Given the description of an element on the screen output the (x, y) to click on. 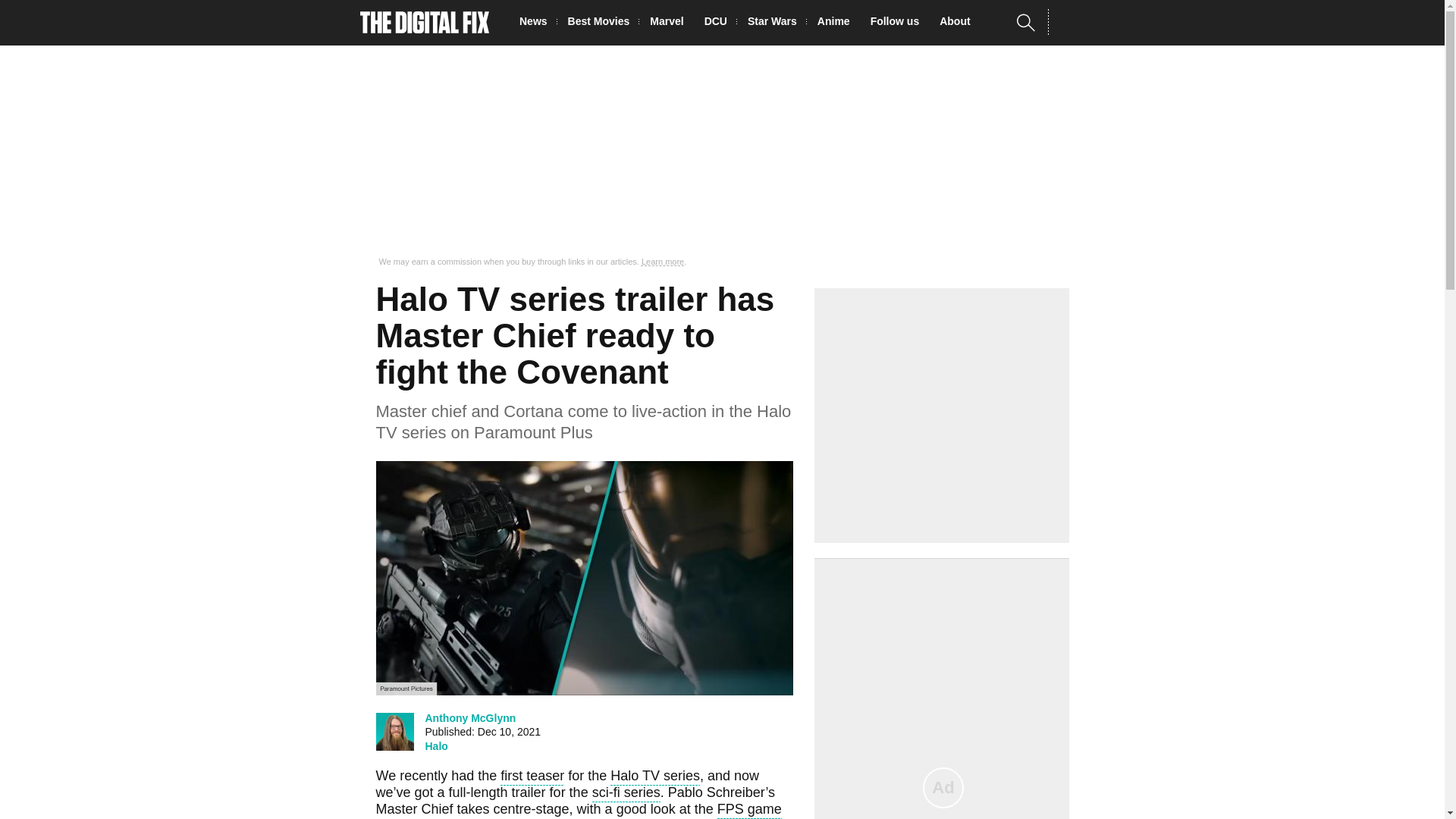
sci-fi series (626, 793)
Star Wars (777, 22)
Network N Media (1068, 22)
Marvel Cinematic Universe News (671, 22)
The Digital Fix (424, 22)
Anime News (837, 22)
Learn more (663, 261)
Anime (837, 22)
Best Movies (603, 22)
Marvel (671, 22)
